Given the description of an element on the screen output the (x, y) to click on. 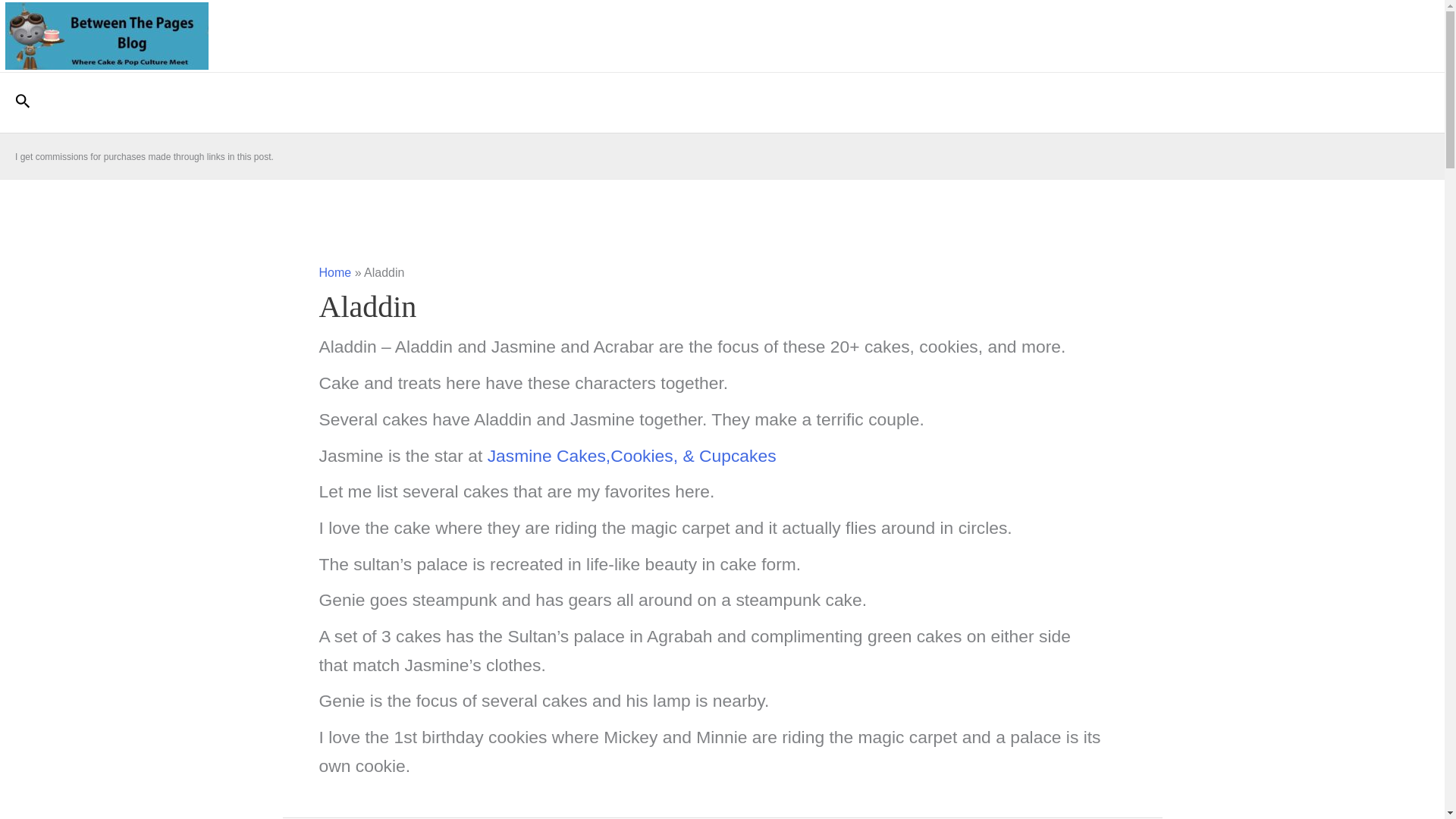
Home (334, 272)
